Given the description of an element on the screen output the (x, y) to click on. 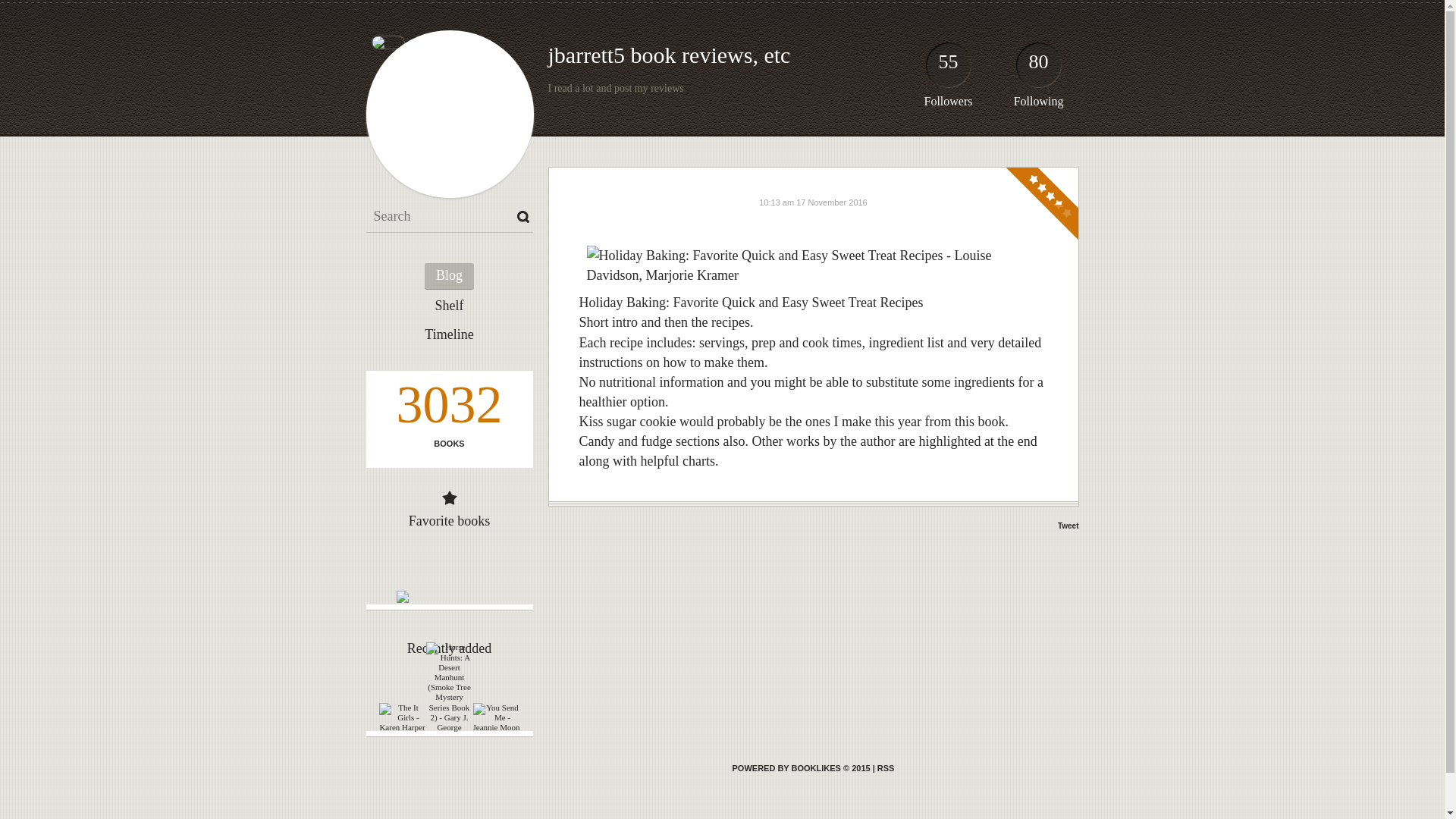
Blog (449, 275)
RSS (886, 768)
BookLikes (886, 768)
Favorite books (449, 520)
BookLikes (801, 768)
10:13 am 17 November 2016 (812, 202)
Timeline (448, 335)
BOOKS (448, 443)
jbarrett5 book reviews, etc (668, 54)
Tweet (1068, 525)
3032 (448, 408)
Shelf (448, 306)
80 (1038, 67)
55 (947, 67)
Recently added (449, 648)
